Given the description of an element on the screen output the (x, y) to click on. 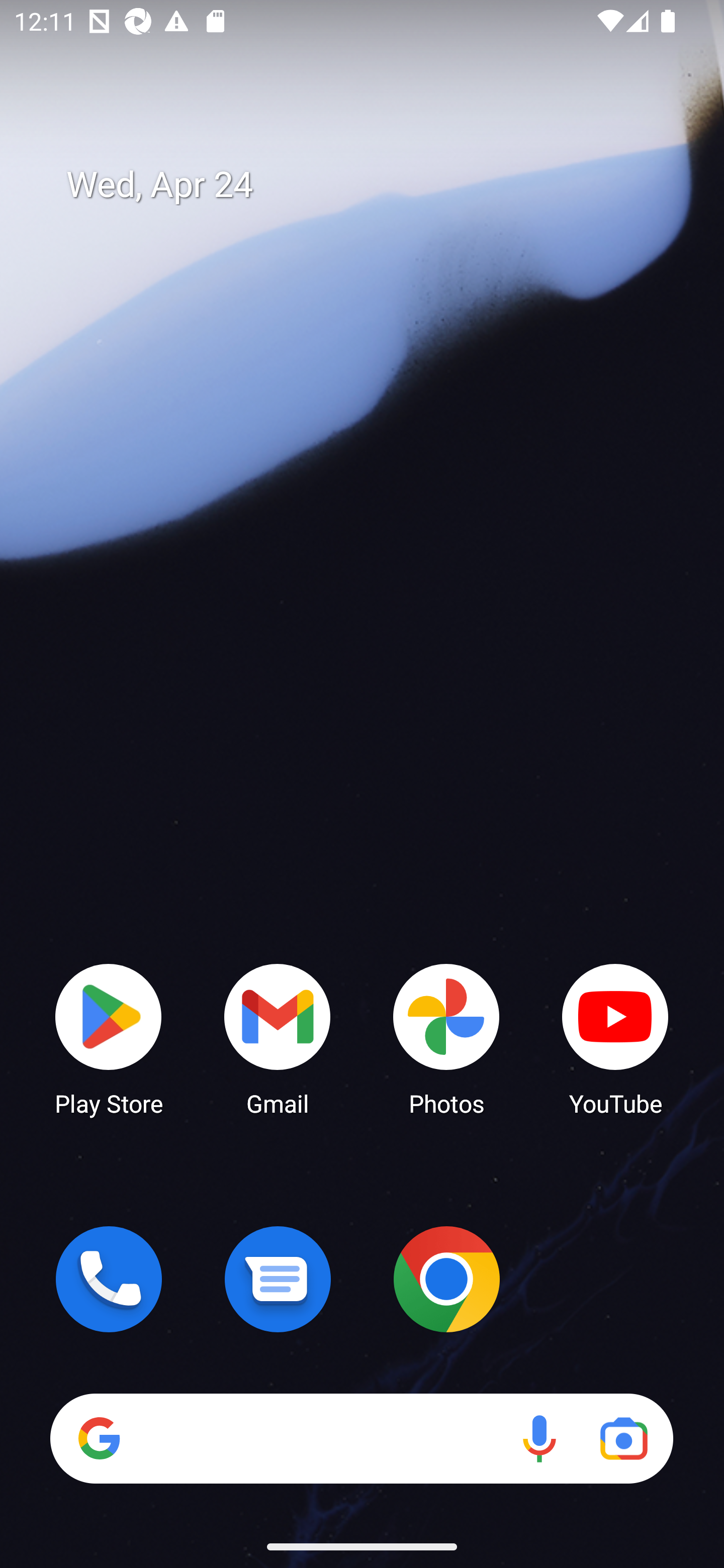
Wed, Apr 24 (375, 184)
Play Store (108, 1038)
Gmail (277, 1038)
Photos (445, 1038)
YouTube (615, 1038)
Phone (108, 1279)
Messages (277, 1279)
Chrome (446, 1279)
Search Voice search Google Lens (361, 1438)
Voice search (539, 1438)
Google Lens (623, 1438)
